Given the description of an element on the screen output the (x, y) to click on. 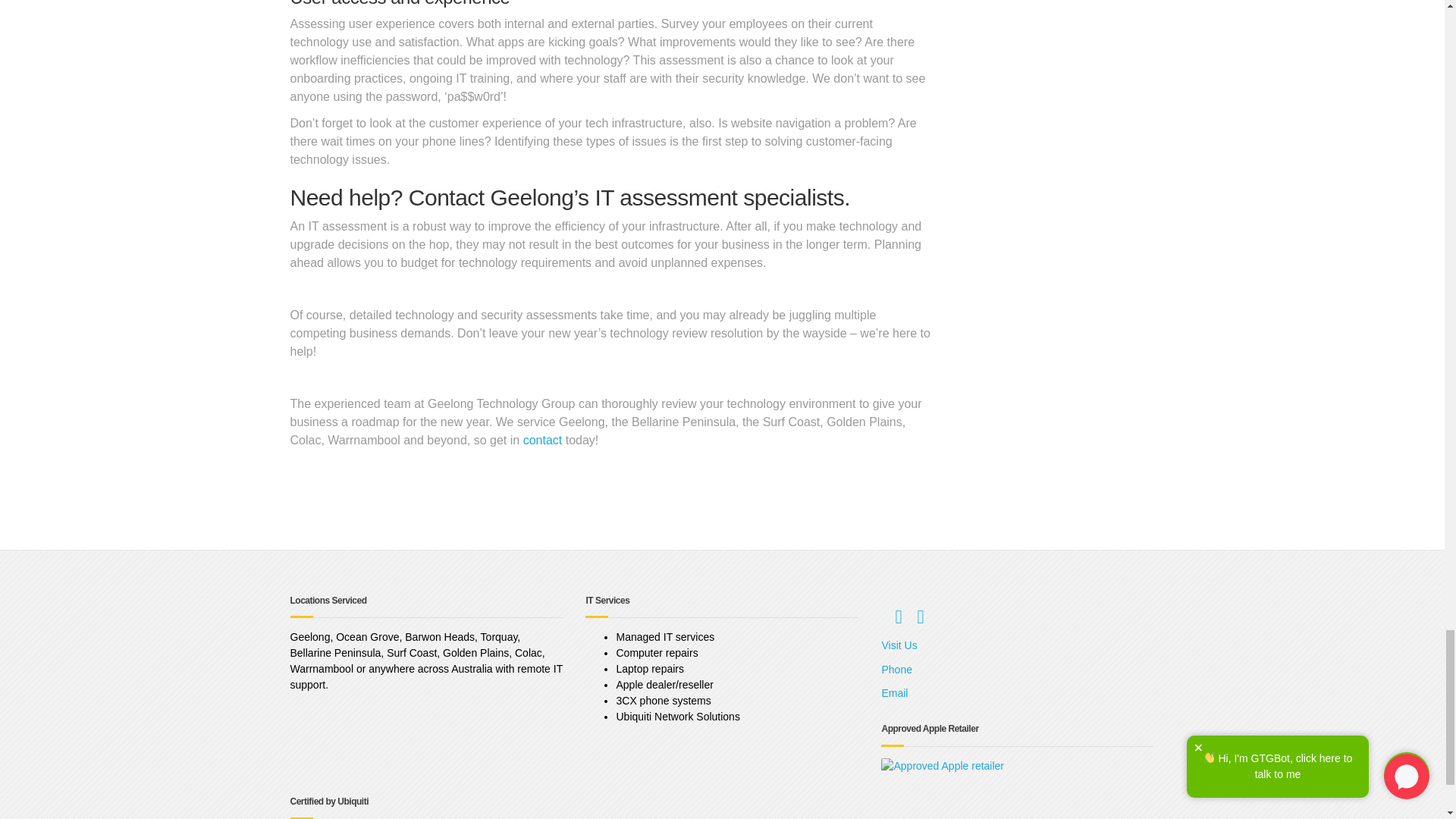
Untitled design (942, 765)
